Given the description of an element on the screen output the (x, y) to click on. 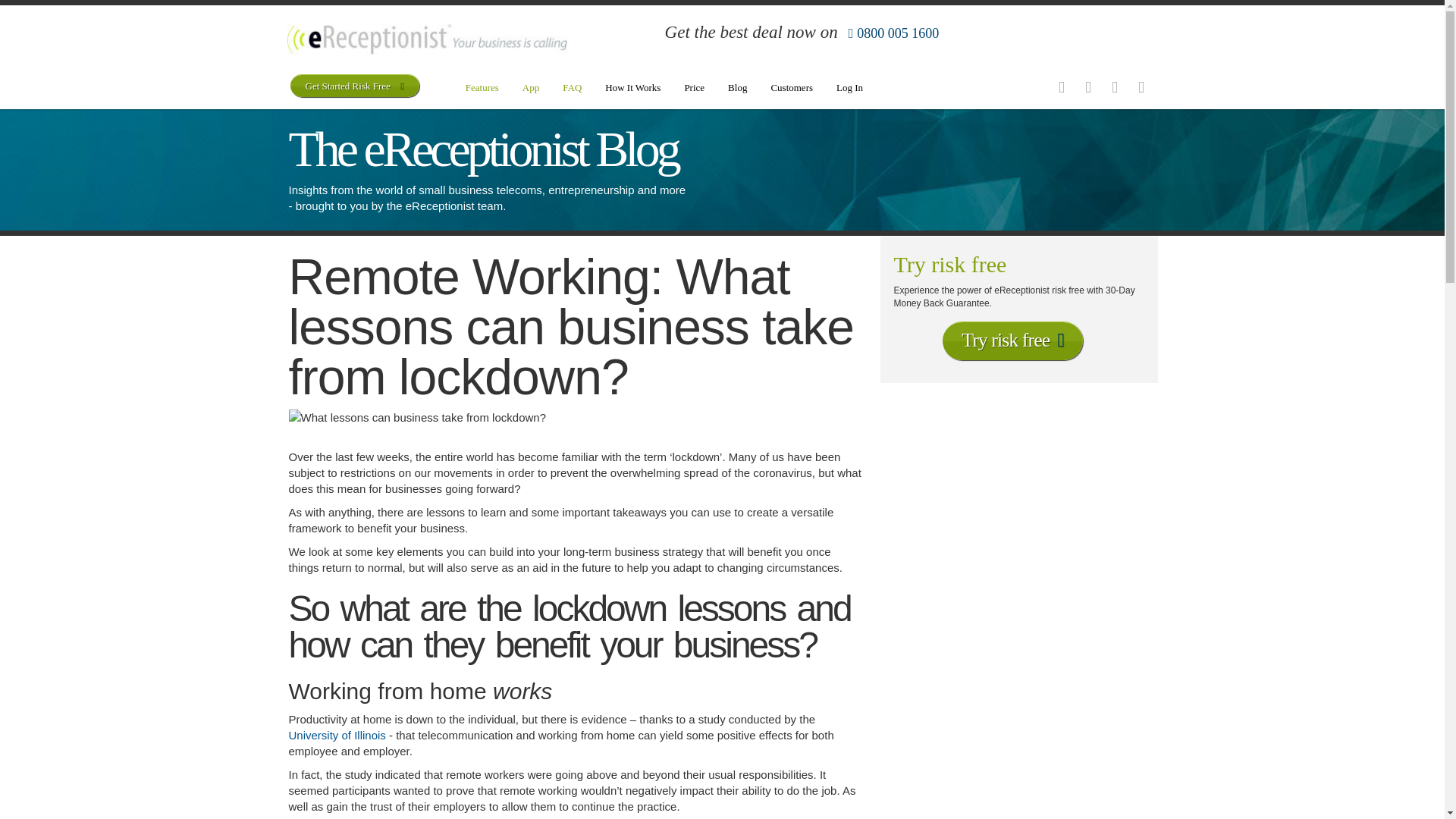
eReceptionist - Your business is calling (426, 41)
Get Started Risk Free (354, 85)
FAQ (571, 89)
Email (1141, 88)
YouTube (1113, 88)
Log In (849, 89)
Pricing (694, 89)
Try risk free (1012, 340)
Price (694, 89)
Customers (791, 89)
